Given the description of an element on the screen output the (x, y) to click on. 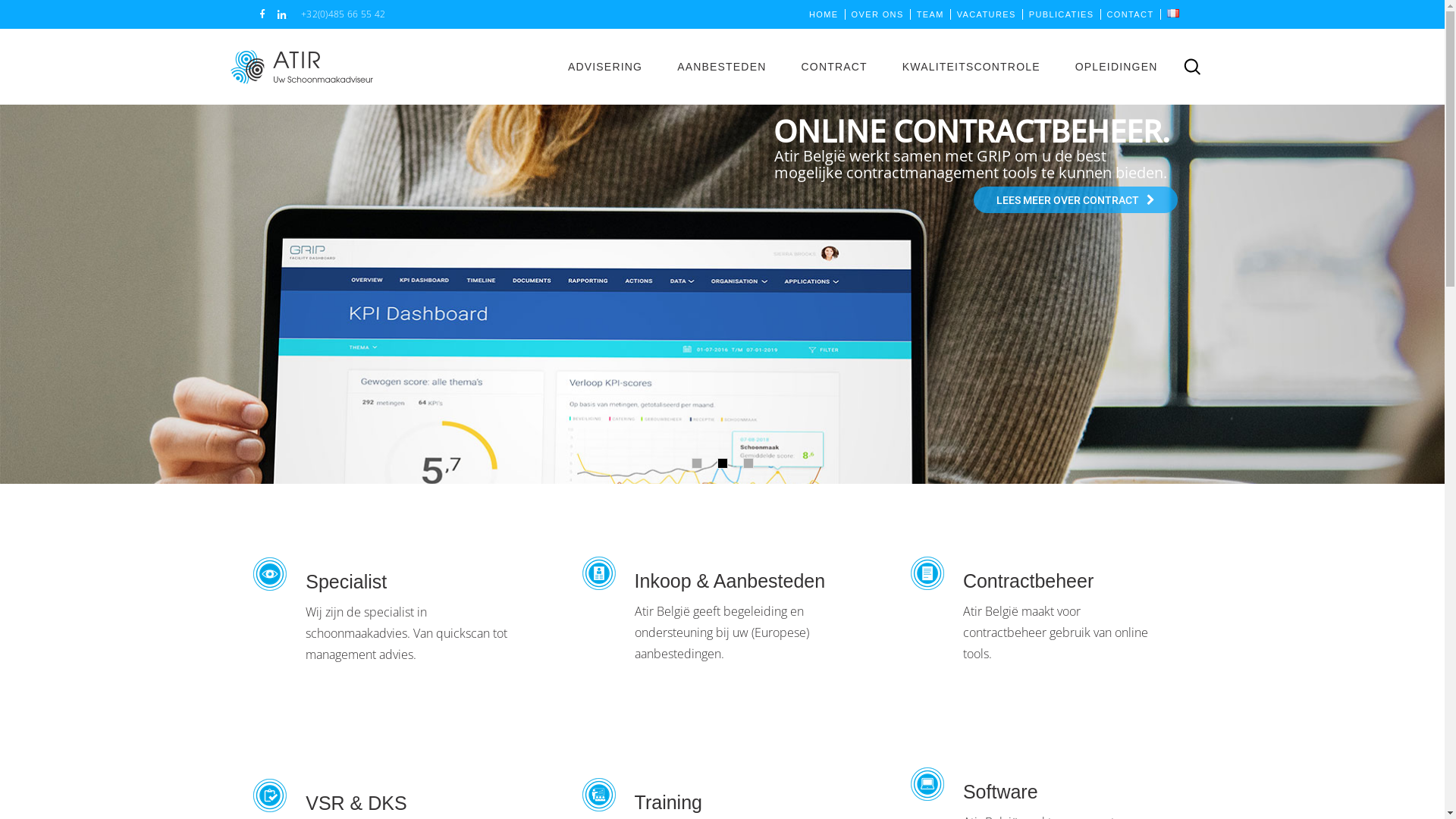
AANBESTEDEN Element type: text (721, 66)
KWALITEITSCONTROLE Element type: text (970, 66)
Specialist Element type: text (345, 581)
VSR & DKS Element type: text (355, 802)
OVER ONS Element type: text (877, 13)
HOME Element type: text (823, 13)
CONTACT Element type: text (1130, 13)
VACATURES Element type: text (986, 13)
Contractbeheer Element type: text (1028, 580)
Training Element type: text (668, 801)
PUBLICATIES Element type: text (1061, 13)
TEAM Element type: text (930, 13)
ADVISERING Element type: text (604, 66)
Software Element type: text (1000, 791)
+32(0)485 66 55 42 Element type: text (343, 13)
Inkoop & Aanbesteden Element type: text (729, 580)
CONTRACT Element type: text (834, 66)
OPLEIDINGEN Element type: text (1116, 66)
